Given the description of an element on the screen output the (x, y) to click on. 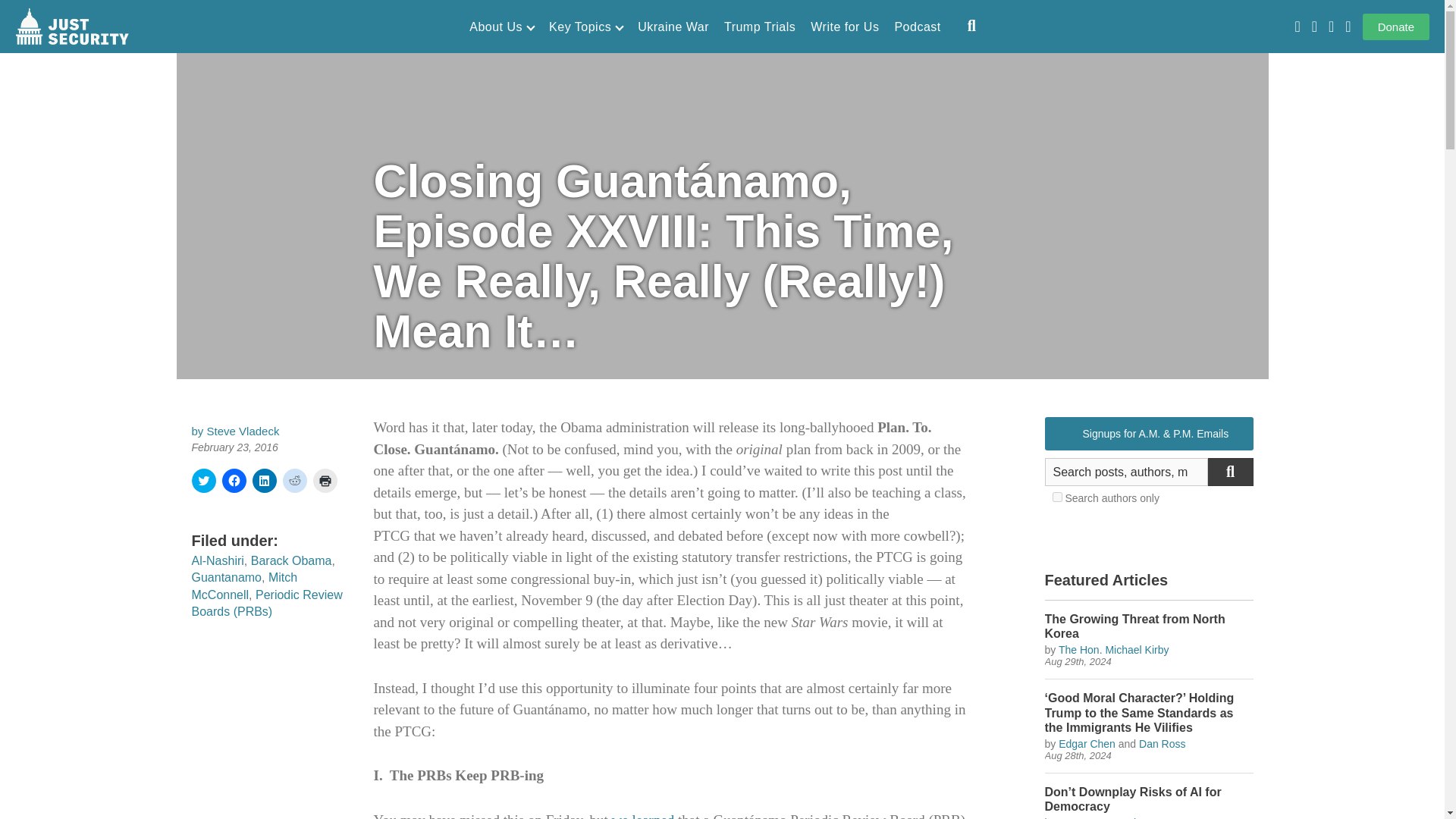
Profile and articles by The Hon. Michael Kirby (1113, 649)
Click to share on LinkedIn (263, 480)
Profile and articles by Edgar Chen (1086, 743)
Ukraine War (673, 27)
About Us (501, 27)
Profile and articles by Steve Vladeck (242, 431)
Donate (1395, 26)
on (1057, 497)
Profile and articles by Suzanne Nossel (1096, 817)
Trump Trials (758, 27)
